Given the description of an element on the screen output the (x, y) to click on. 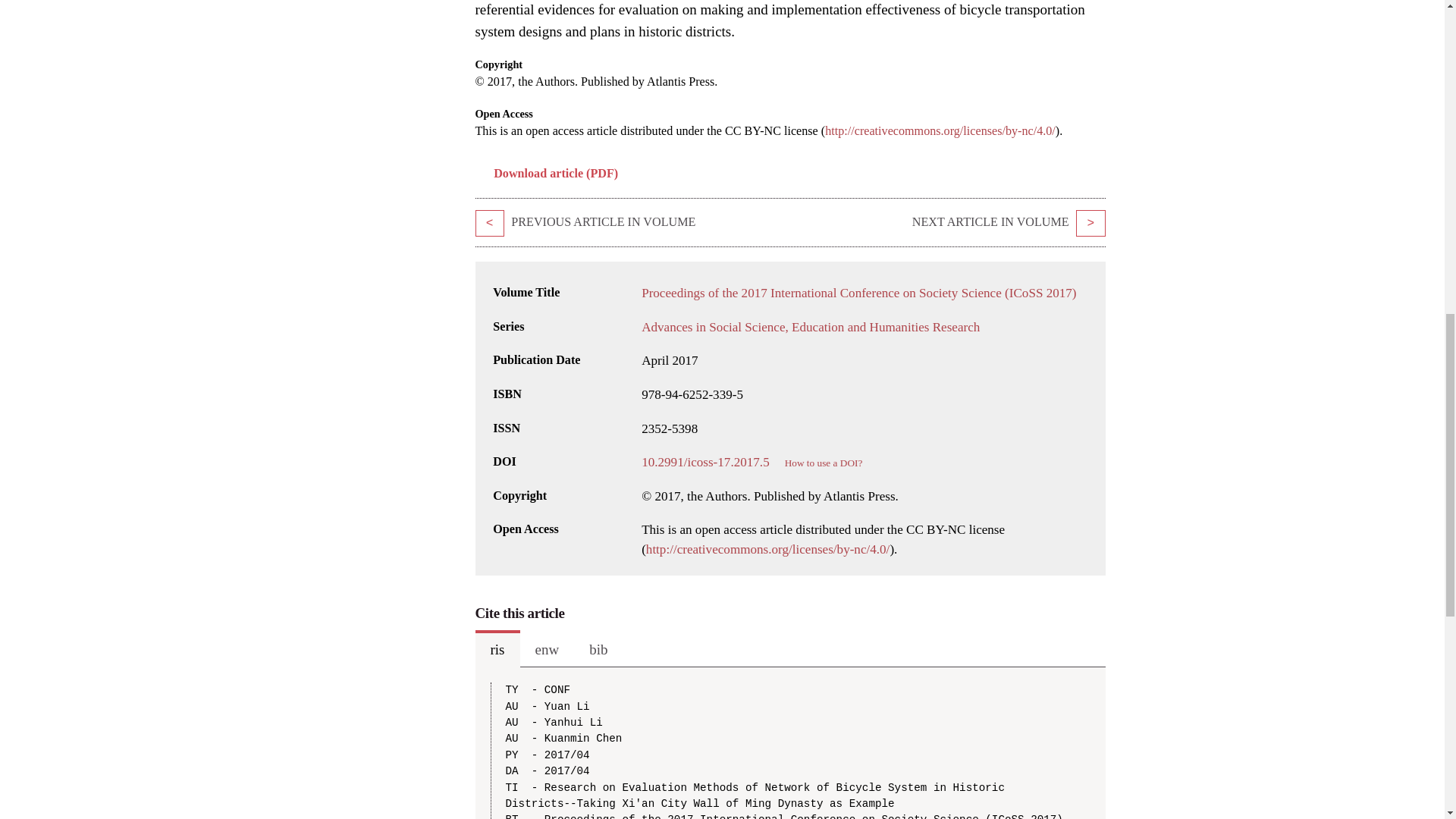
How to use a DOI? (823, 462)
ris (496, 648)
bib (598, 648)
enw (547, 648)
